Given the description of an element on the screen output the (x, y) to click on. 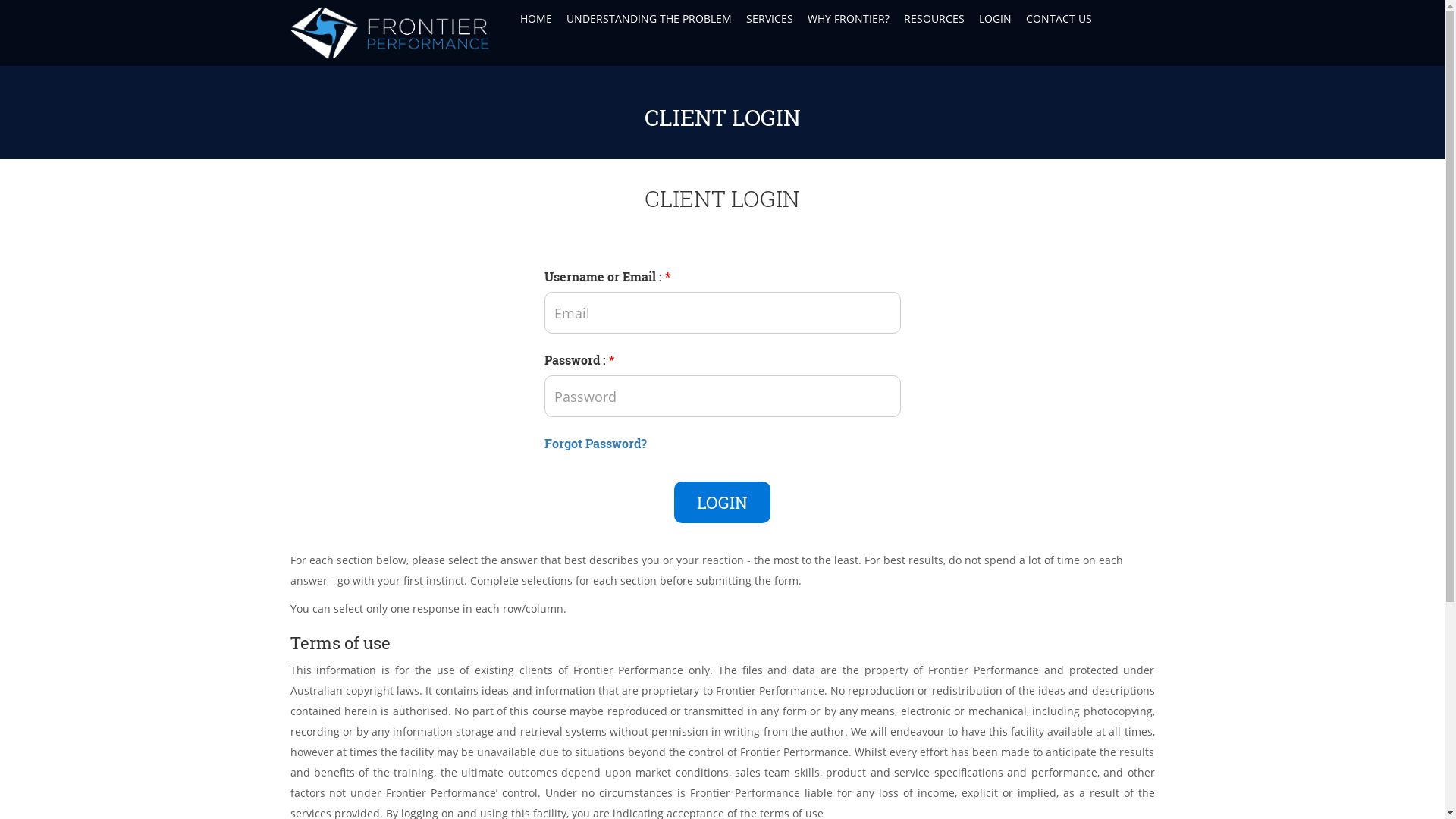
Forgot Password? Element type: text (595, 443)
CONTACT US Element type: text (1057, 18)
LOGIN Element type: text (722, 502)
SERVICES Element type: text (768, 18)
WHY FRONTIER? Element type: text (847, 18)
LOGIN Element type: text (993, 18)
UNDERSTANDING THE PROBLEM Element type: text (647, 18)
RESOURCES Element type: text (932, 18)
HOME Element type: text (534, 18)
